Given the description of an element on the screen output the (x, y) to click on. 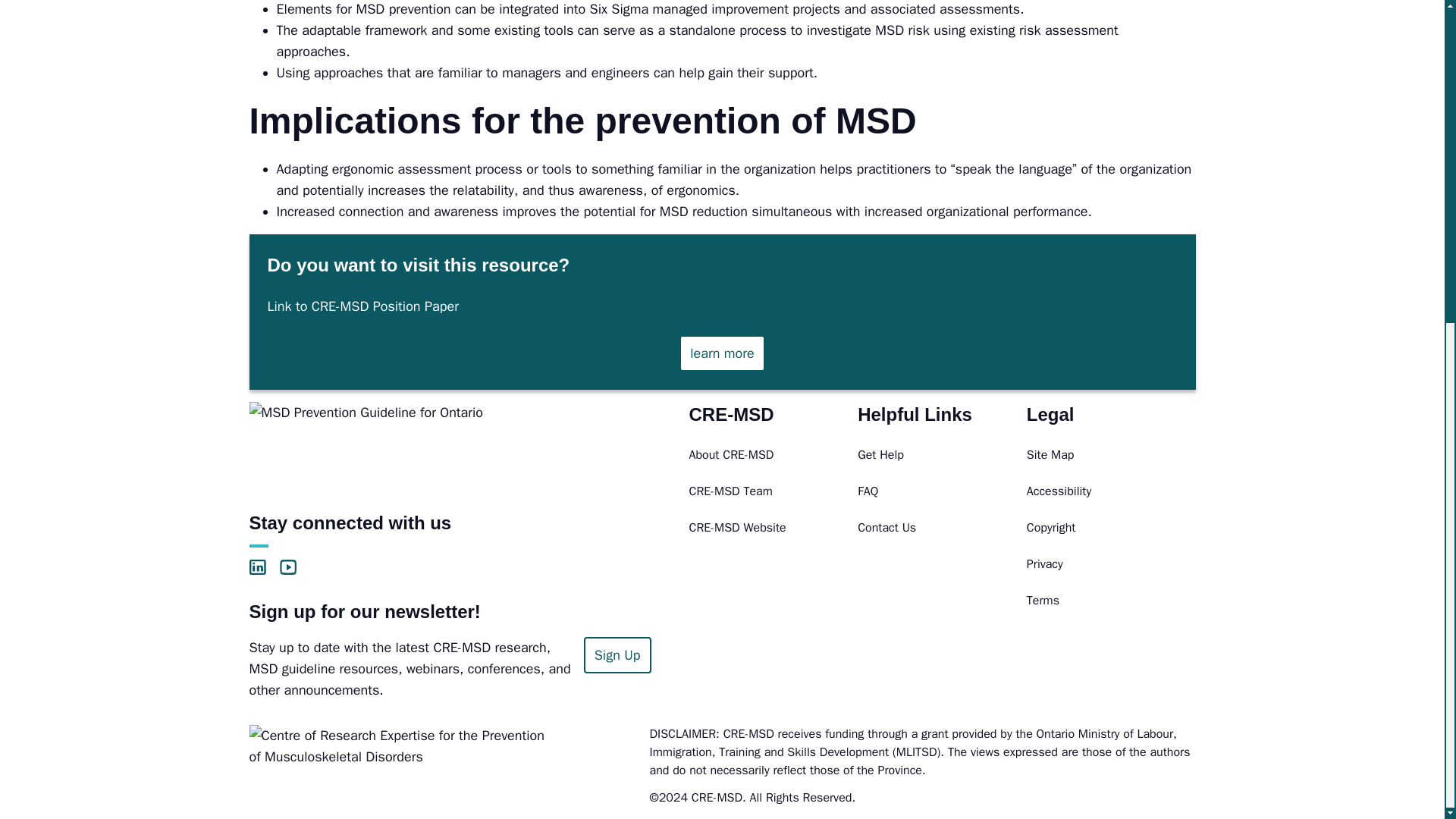
Do you want to visit this resource? (721, 352)
LinkedIn (255, 566)
YouTube (286, 566)
